Given the description of an element on the screen output the (x, y) to click on. 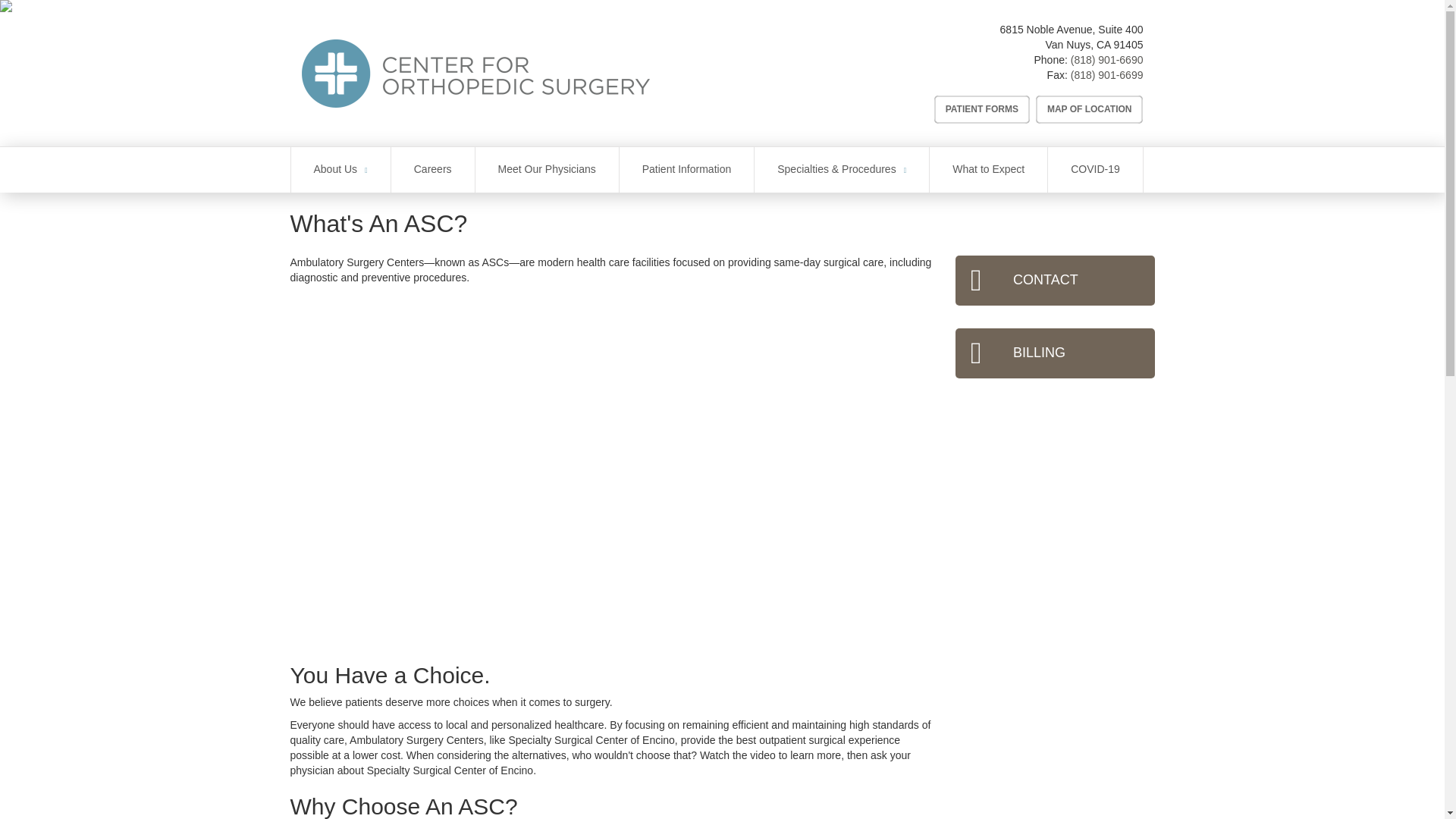
Home (542, 73)
Meet Our Physicians (547, 169)
COVID-19 (1095, 169)
MAP OF LOCATION (1088, 109)
CONTACT (1054, 280)
BILLING (1054, 353)
What to Expect (988, 169)
About Us (340, 169)
Careers (432, 169)
PATIENT FORMS (981, 109)
Patient Information (687, 169)
